Given the description of an element on the screen output the (x, y) to click on. 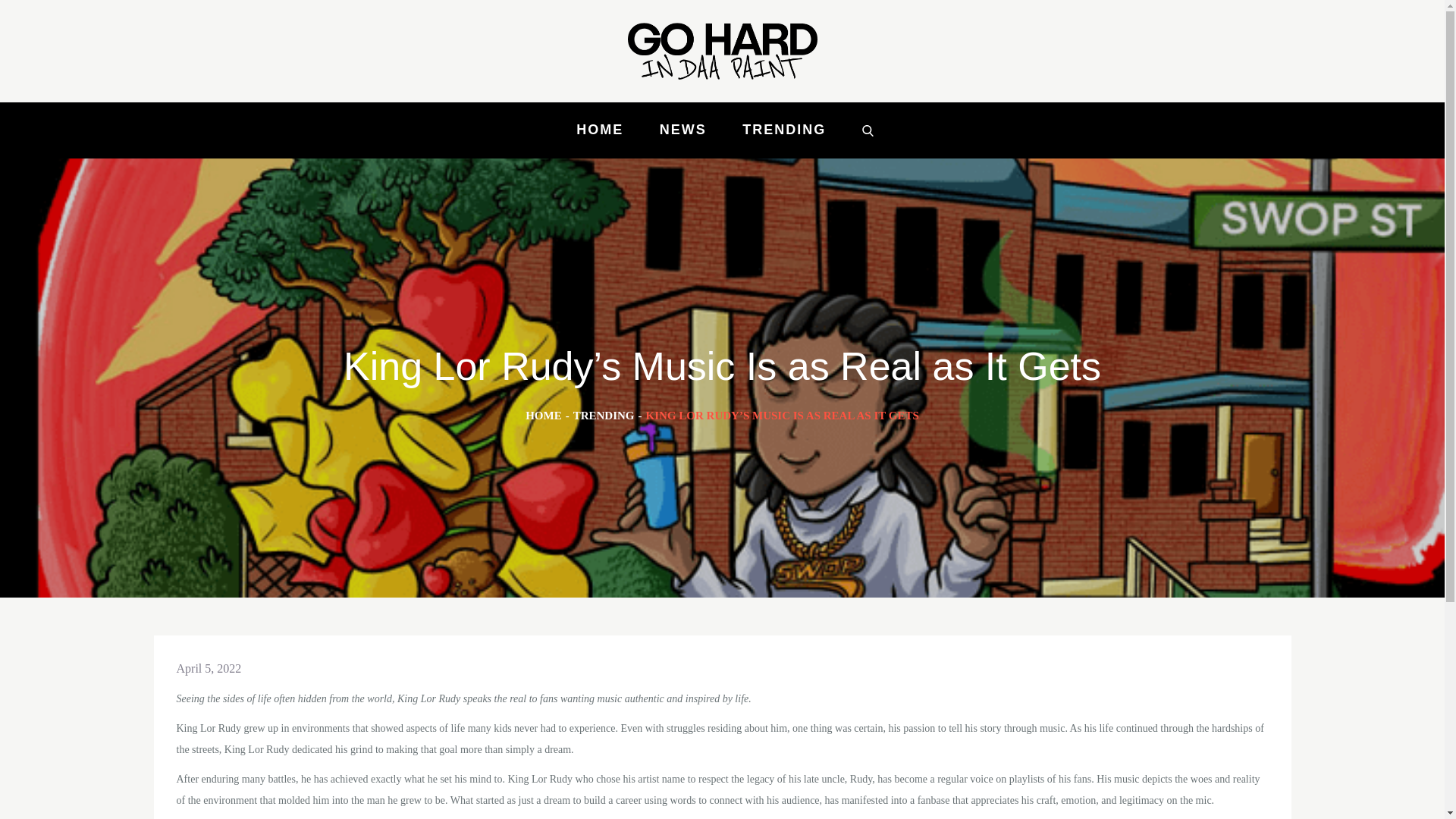
HOME (599, 129)
TRENDING (603, 415)
NEWS (683, 129)
HOME (543, 415)
TRENDING (784, 129)
April 5, 2022 (208, 667)
